Given the description of an element on the screen output the (x, y) to click on. 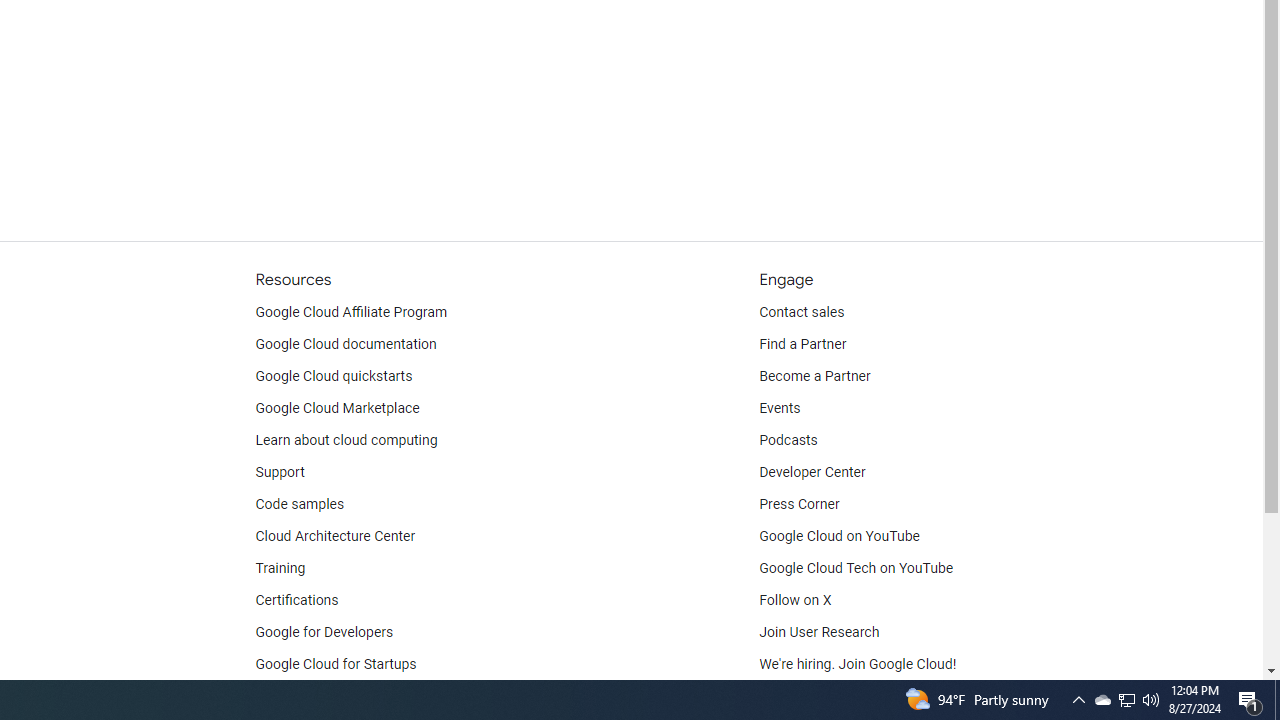
Google Cloud Affiliate Program (351, 312)
Find a Partner (803, 344)
Press Corner (799, 504)
Google Cloud documentation (345, 344)
We're hiring. Join Google Cloud! (858, 664)
Cloud Architecture Center (335, 536)
Learn about cloud computing (345, 440)
Developer Center (812, 472)
Podcasts (788, 440)
